Given the description of an element on the screen output the (x, y) to click on. 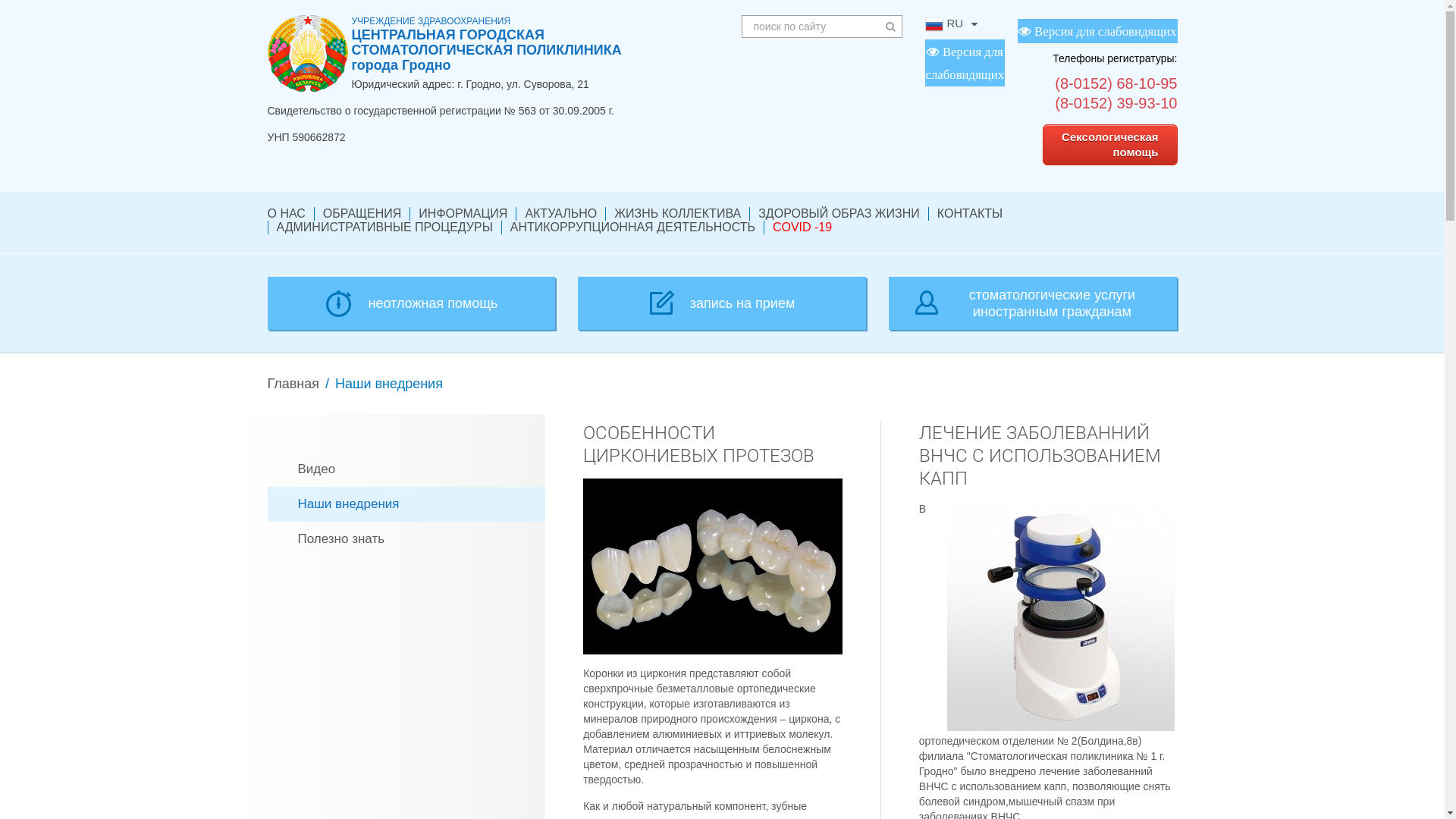
COVID -19 Element type: text (801, 227)
